Given the description of an element on the screen output the (x, y) to click on. 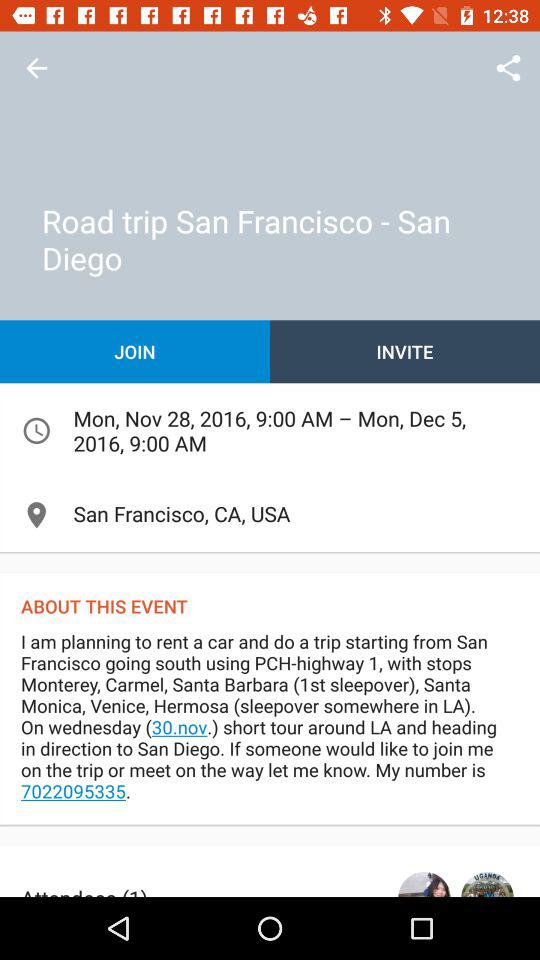
open item at the top right corner (508, 67)
